Given the description of an element on the screen output the (x, y) to click on. 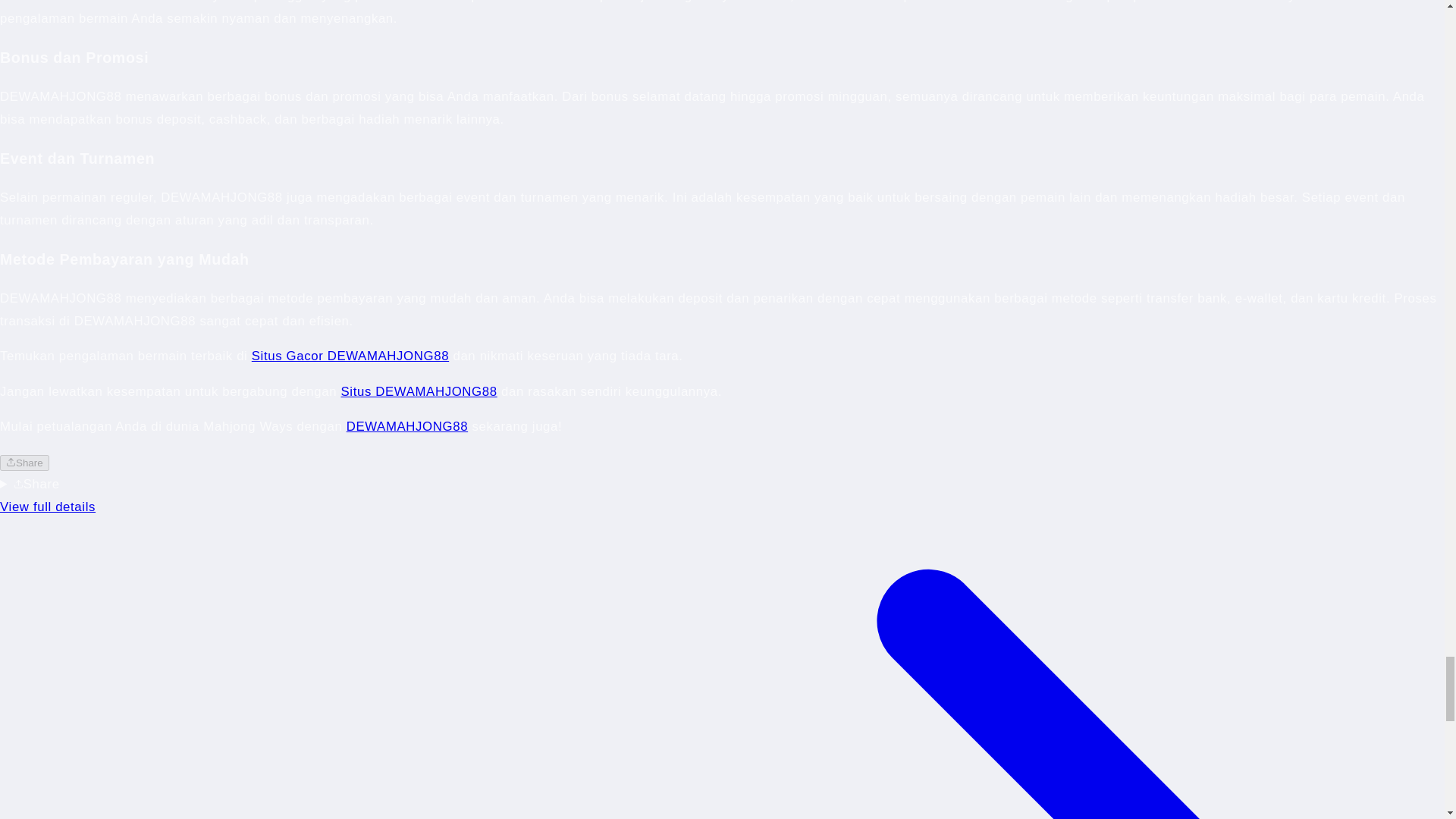
Situs Gacor DEWAMAHJONG88 (349, 355)
Situs DEWAMAHJONG88 (418, 391)
DEWAMAHJONG88 (406, 426)
Share (24, 462)
